Given the description of an element on the screen output the (x, y) to click on. 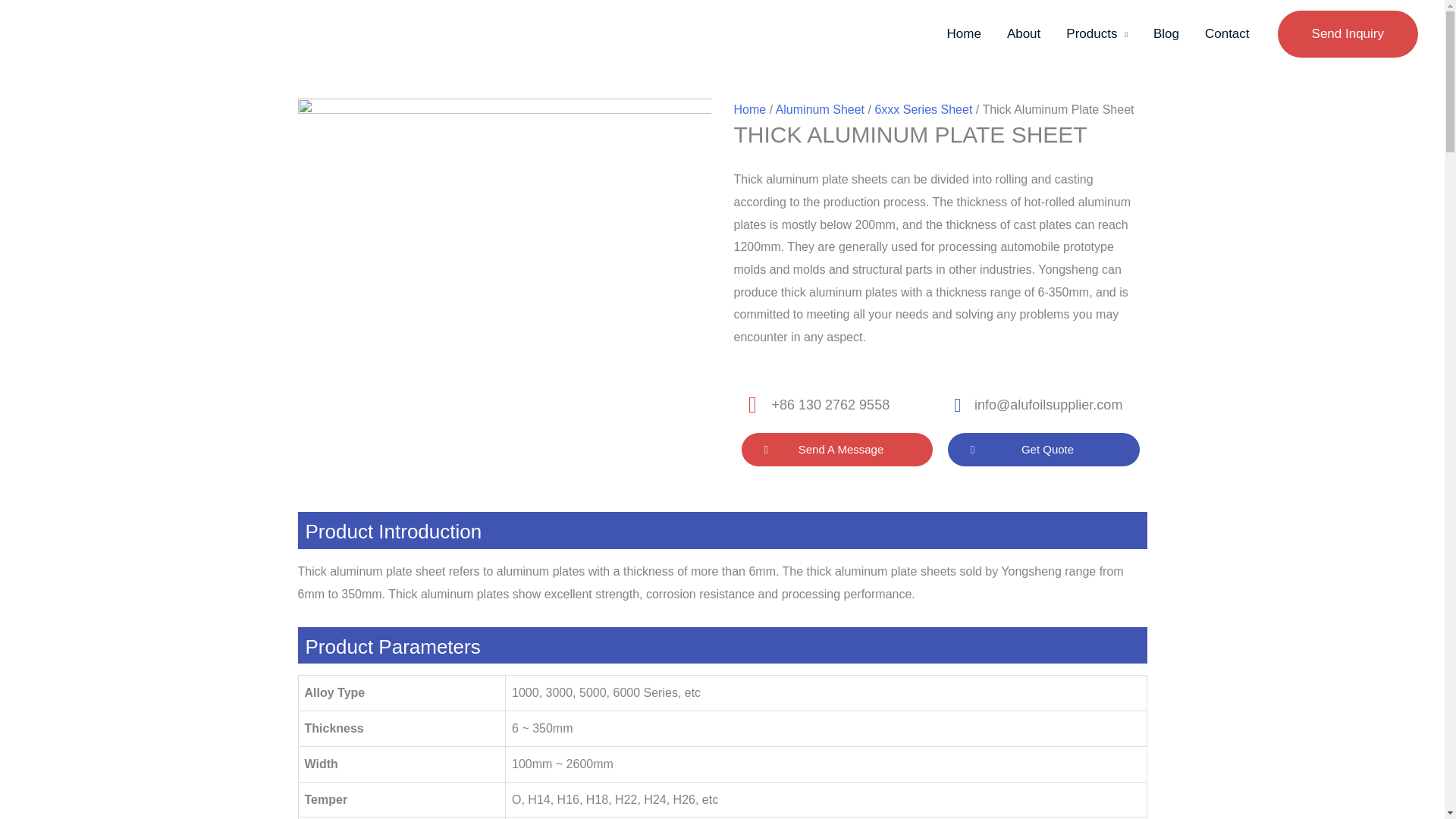
Home (750, 109)
6xxx Series Sheet (923, 109)
Get Quote (1043, 449)
Aluminum Sheet (820, 109)
Products (1096, 33)
About (1023, 33)
Send Inquiry (1348, 33)
Contact (1227, 33)
Blog (1166, 33)
Home (964, 33)
